Given the description of an element on the screen output the (x, y) to click on. 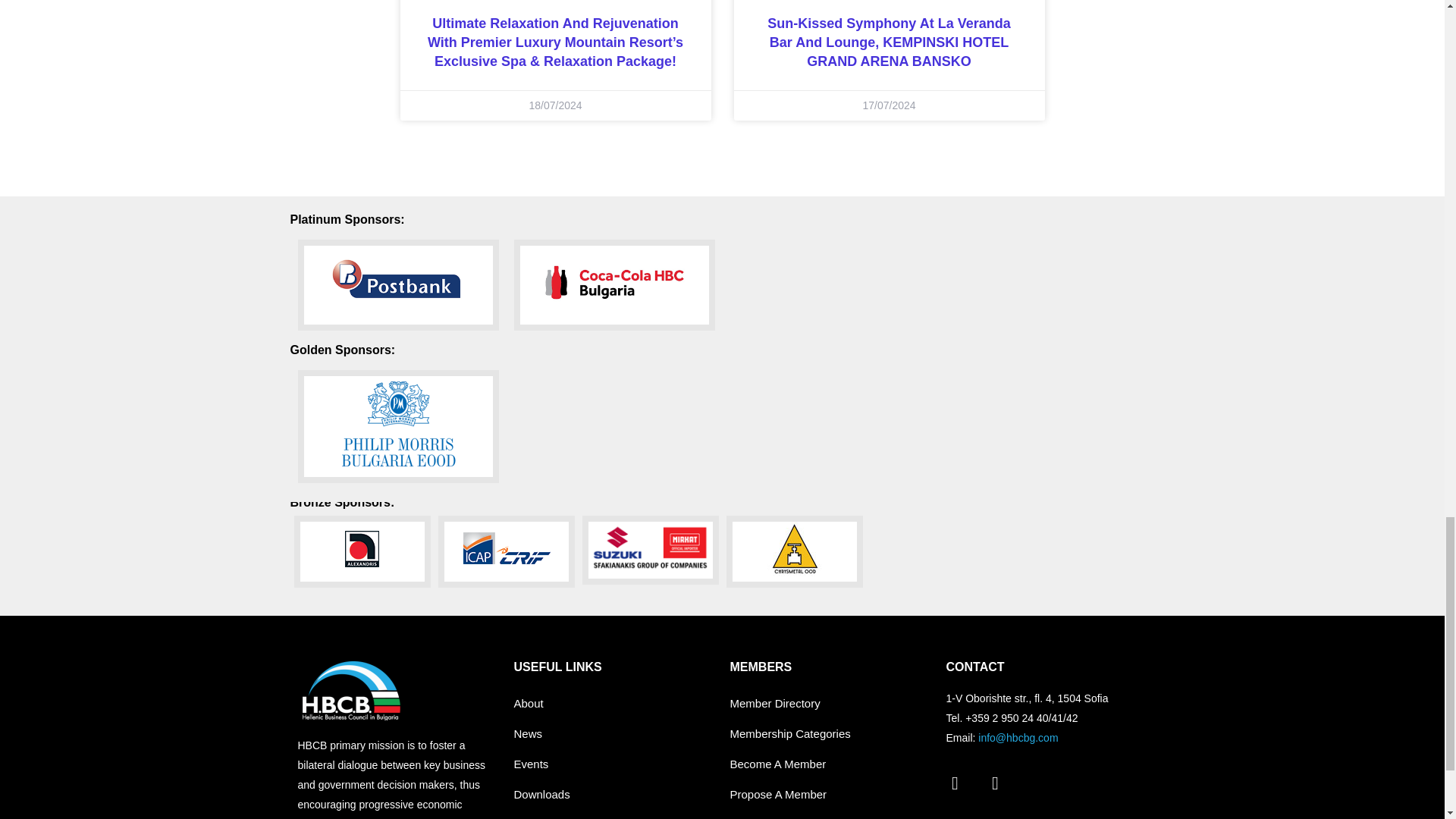
SUZUKI (650, 549)
Alexandris (362, 551)
Philip Morris Bulgaria (397, 426)
CHRYSMETAL (794, 551)
hbcb-logo-w (350, 690)
Postbank (397, 284)
CRIF (506, 551)
Coca Cola HBC (613, 284)
